Given the description of an element on the screen output the (x, y) to click on. 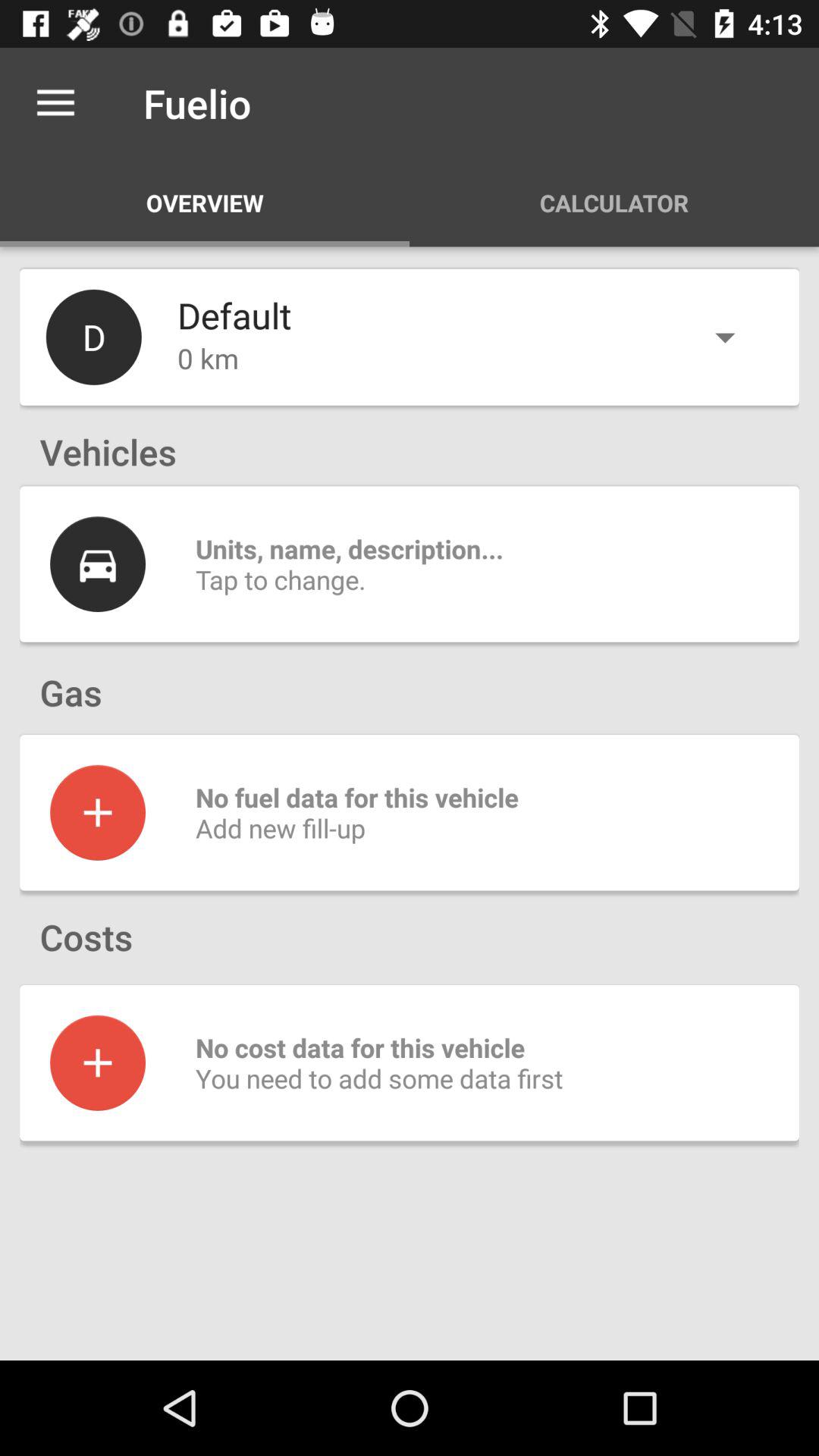
add details for gas (97, 812)
